Given the description of an element on the screen output the (x, y) to click on. 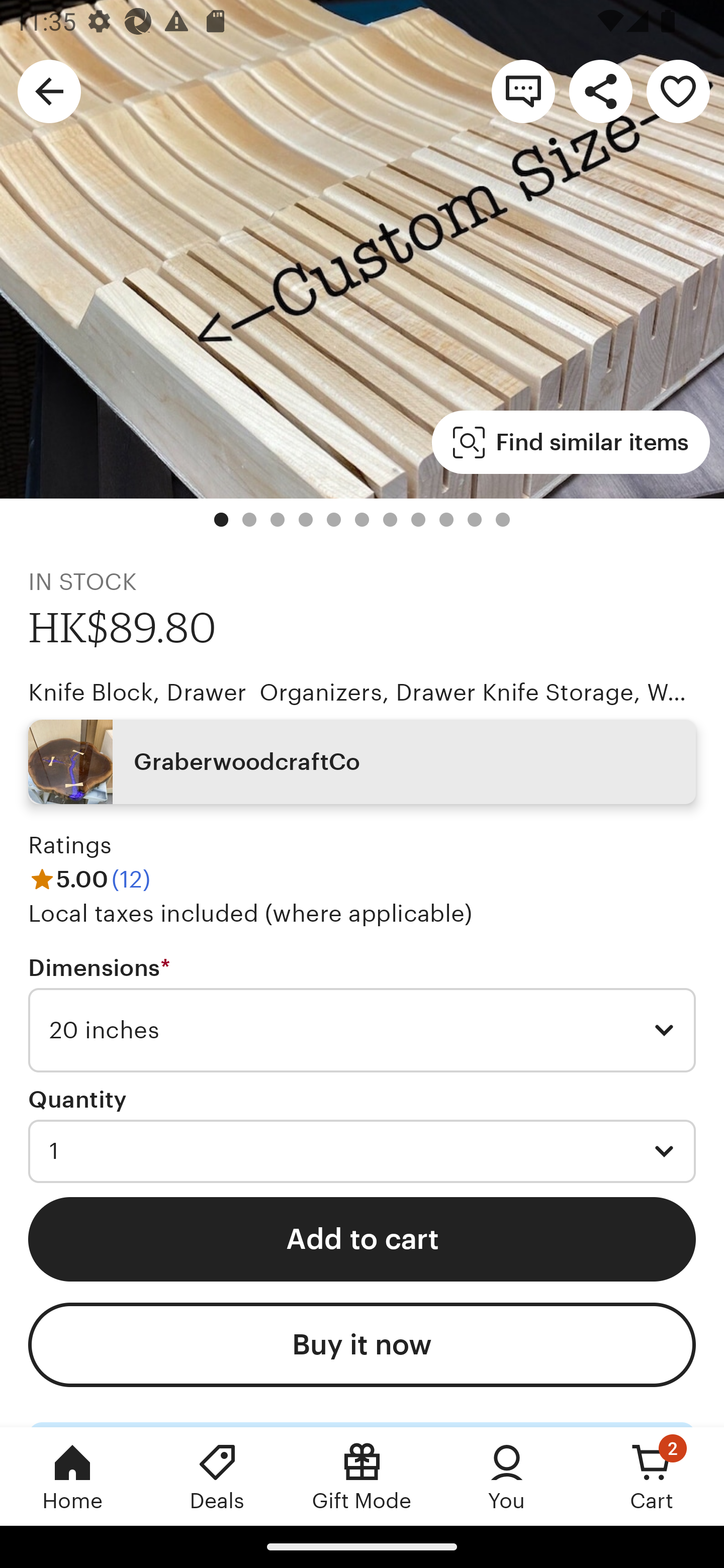
Navigate up (49, 90)
Contact shop (523, 90)
Share (600, 90)
Find similar items (571, 441)
GraberwoodcraftCo (361, 761)
Ratings (70, 844)
5.00 (12) (89, 879)
Dimensions * Required 20 inches (361, 1013)
20 inches (361, 1029)
Quantity (77, 1099)
1 (361, 1150)
Add to cart (361, 1238)
Buy it now (361, 1345)
Deals (216, 1475)
Gift Mode (361, 1475)
You (506, 1475)
Cart, 2 new notifications Cart (651, 1475)
